Given the description of an element on the screen output the (x, y) to click on. 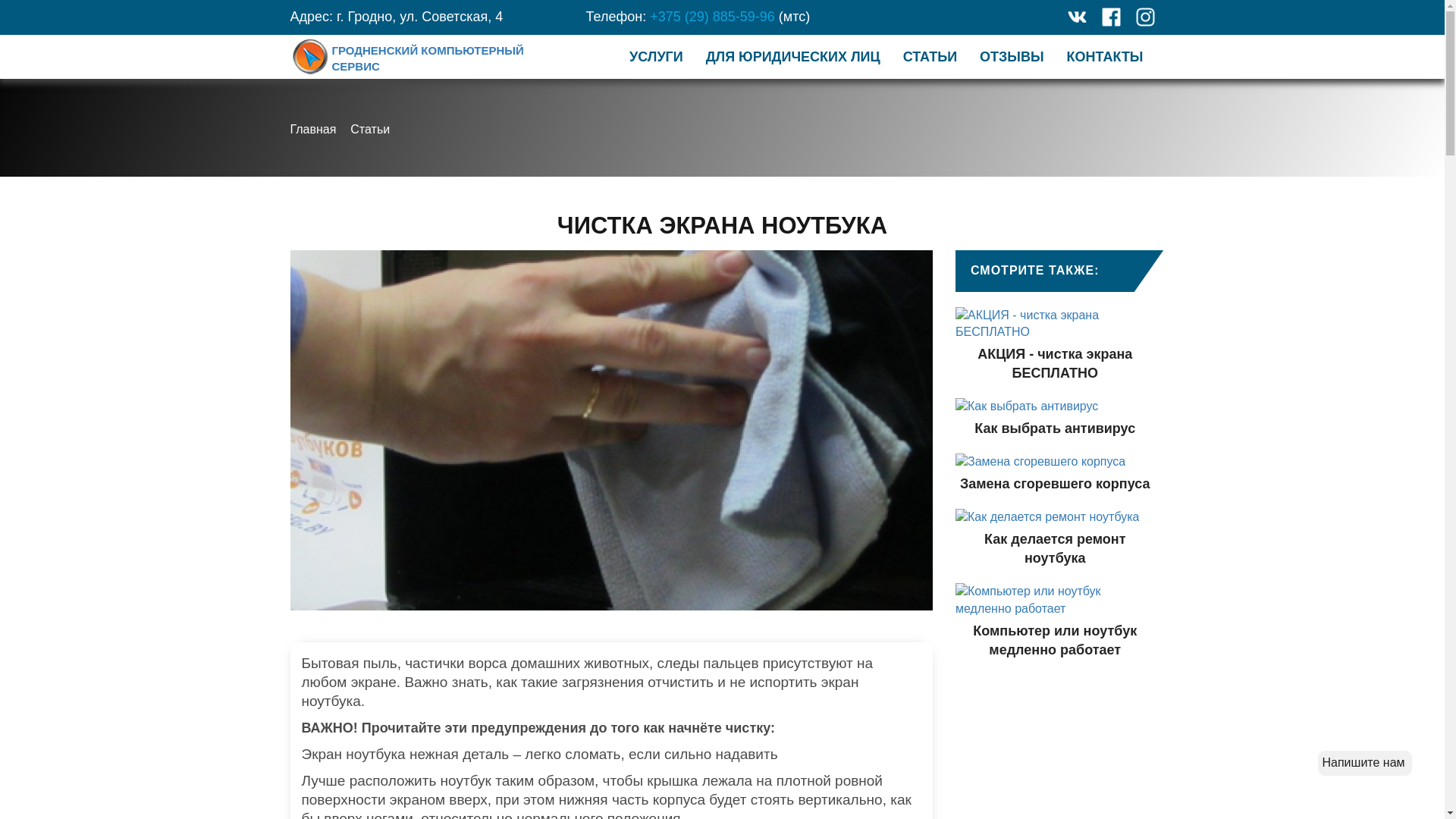
+375 (29) 885-59-96 Element type: text (713, 16)
instagram Element type: hover (1144, 16)
facebook Element type: hover (1110, 16)
